Given the description of an element on the screen output the (x, y) to click on. 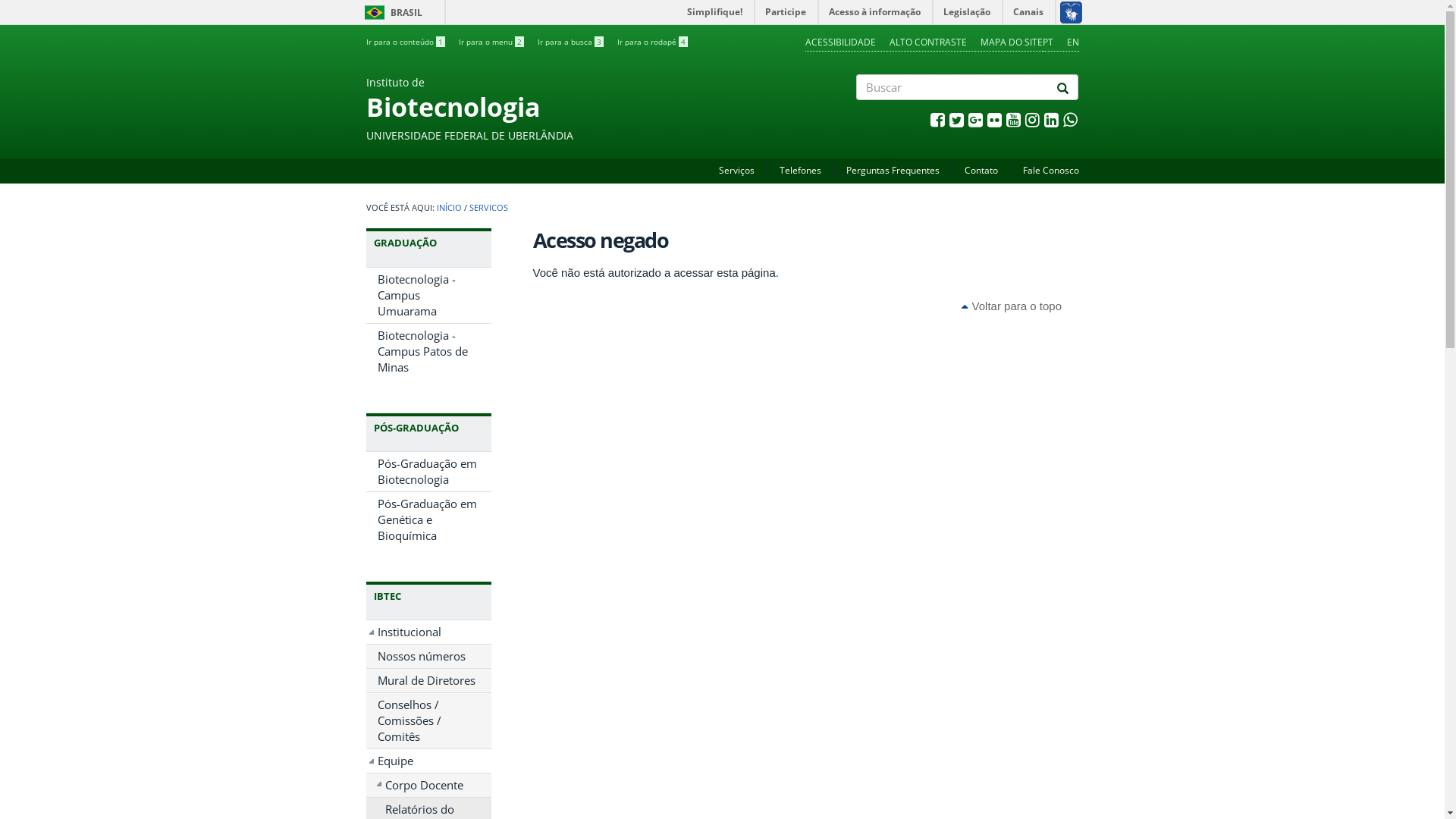
Buscar Element type: text (856, 112)
Ir para a busca 3 Element type: text (569, 41)
Fale Conosco Element type: text (1050, 169)
ALTO CONTRASTE Element type: text (927, 41)
BRASIL Element type: text (373, 12)
Perguntas Frequentes Element type: text (892, 169)
ACESSIBILIDADE Element type: text (840, 41)
EN Element type: text (1072, 41)
Mural de Diretores Element type: text (427, 680)
Institucional Element type: text (427, 631)
Biotecnologia - Campus Umuarama Element type: text (427, 295)
MAPA DO SITE Element type: text (1010, 41)
Corpo Docente Element type: text (427, 785)
Biotecnologia - Campus Patos de Minas Element type: text (427, 351)
Ir para o menu 2 Element type: text (490, 41)
SERVICOS Element type: text (487, 207)
Contato Element type: text (980, 169)
Telefones Element type: text (800, 169)
PT Element type: text (1046, 41)
Equipe Element type: text (427, 760)
Voltar para o topo Element type: text (1011, 305)
